Given the description of an element on the screen output the (x, y) to click on. 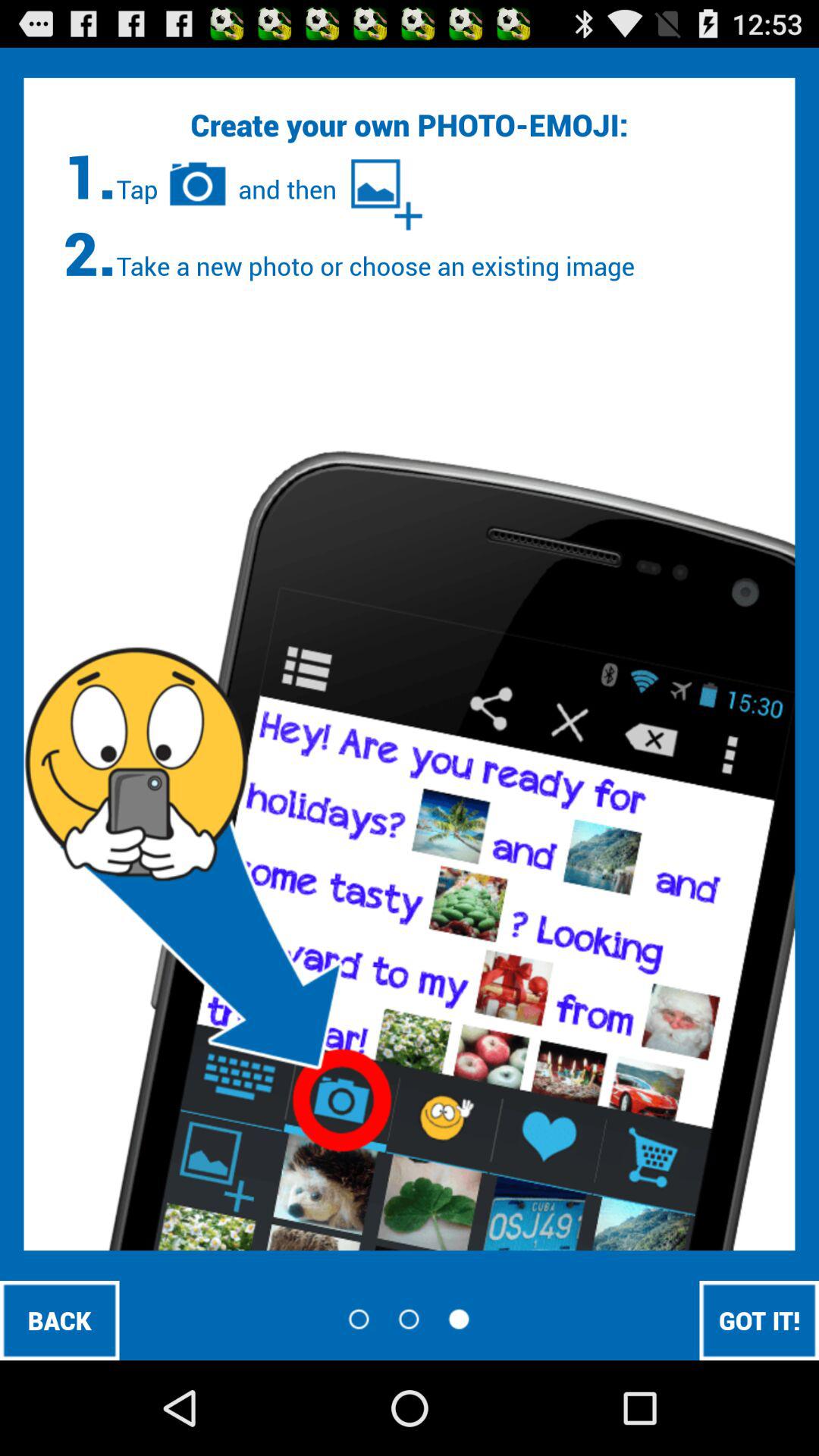
turn on back at the bottom left corner (59, 1320)
